Given the description of an element on the screen output the (x, y) to click on. 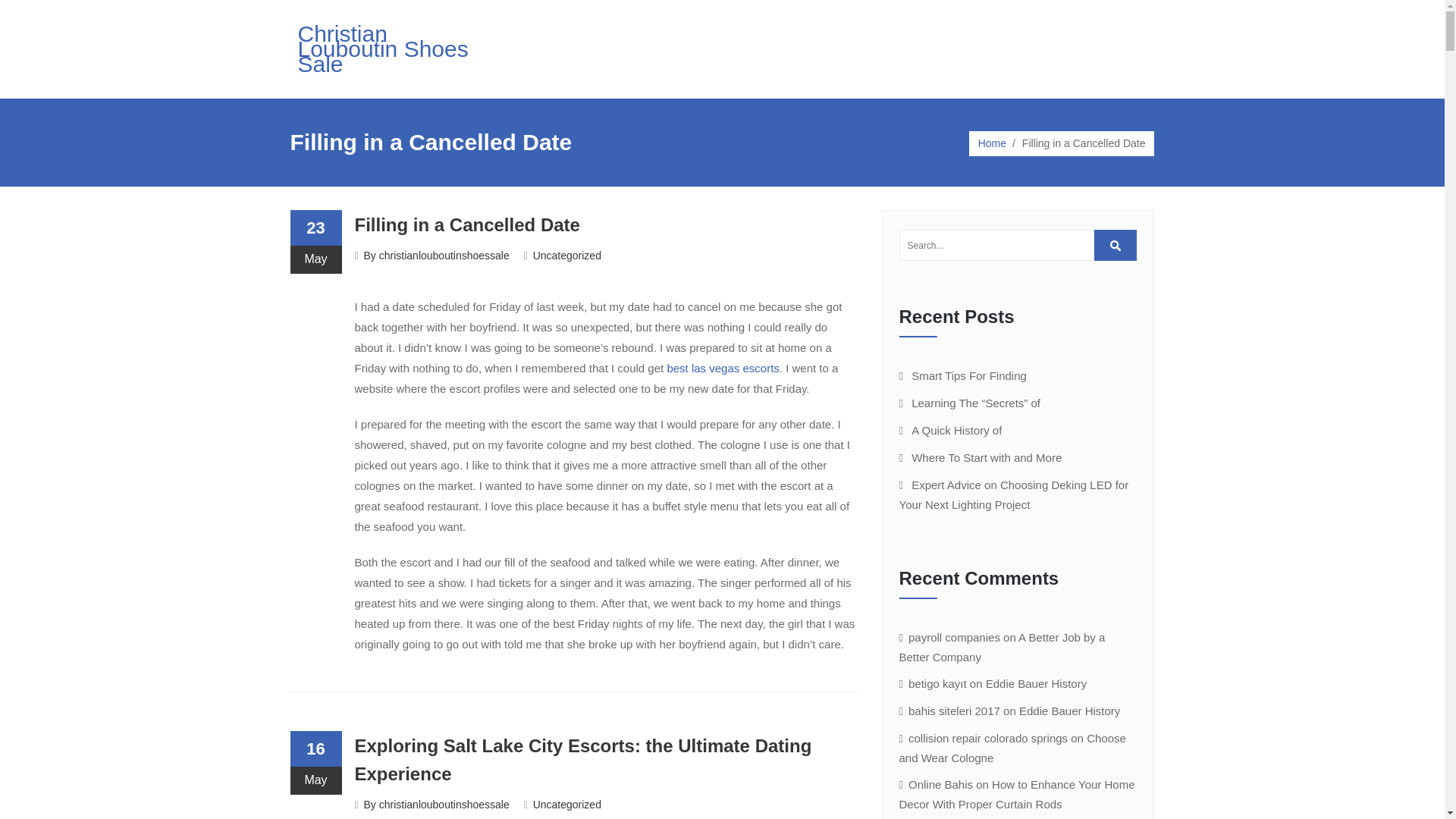
christianlouboutinshoessale (443, 804)
Filling in a Cancelled Date (467, 224)
Uncategorized (566, 804)
Search... (1115, 245)
Christian Louboutin Shoes Sale (382, 48)
christianlouboutinshoessale (443, 255)
best las vegas escorts (722, 367)
Uncategorized (566, 255)
Home (992, 143)
